Given the description of an element on the screen output the (x, y) to click on. 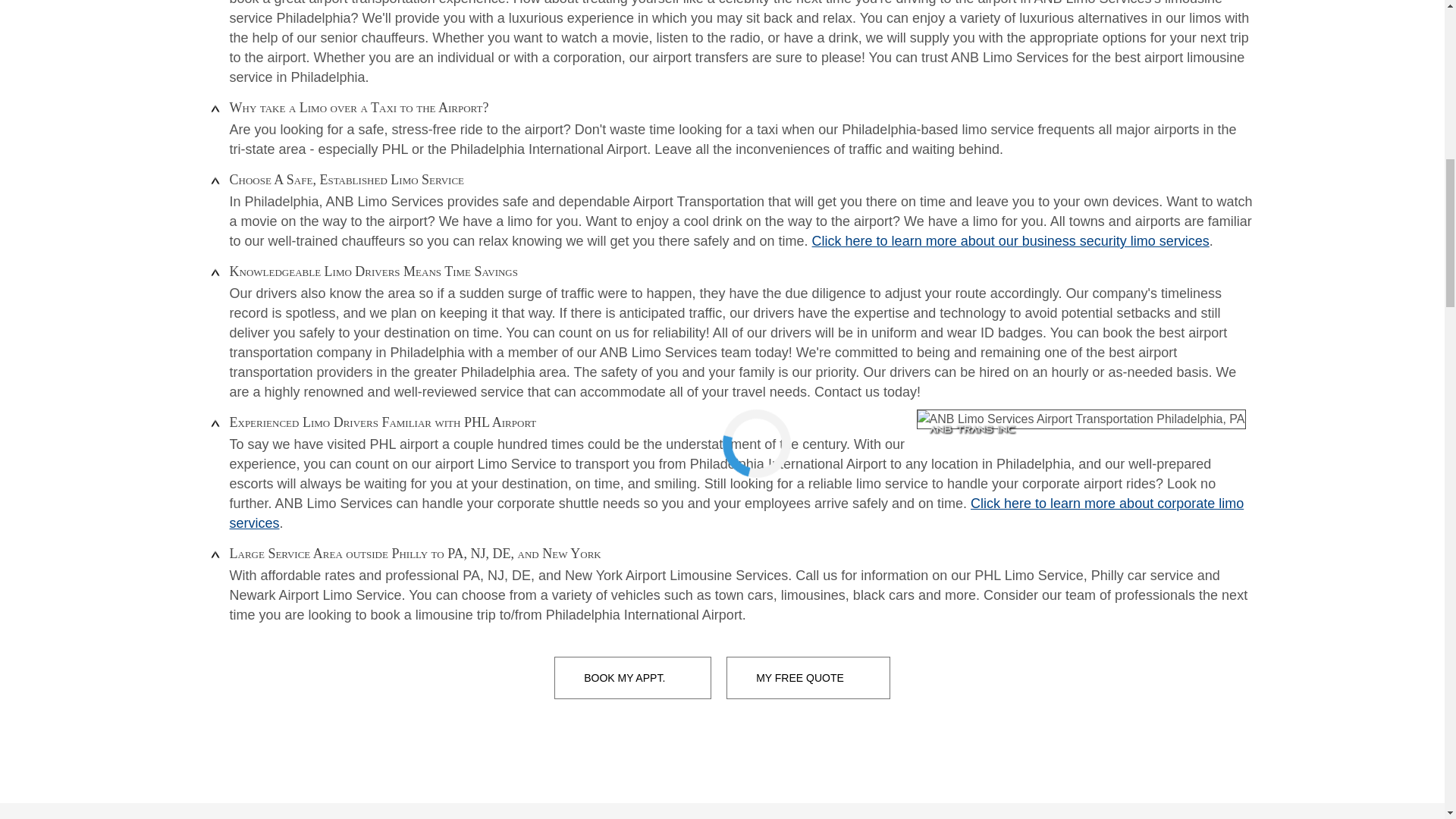
Corporate Limo Services (735, 513)
BOOK MY APPT. (632, 677)
Secure Business Limo Services (1010, 240)
MY FREE QUOTE (807, 677)
Contact Us (807, 677)
Click here to learn more about corporate limo services (735, 513)
